Given the description of an element on the screen output the (x, y) to click on. 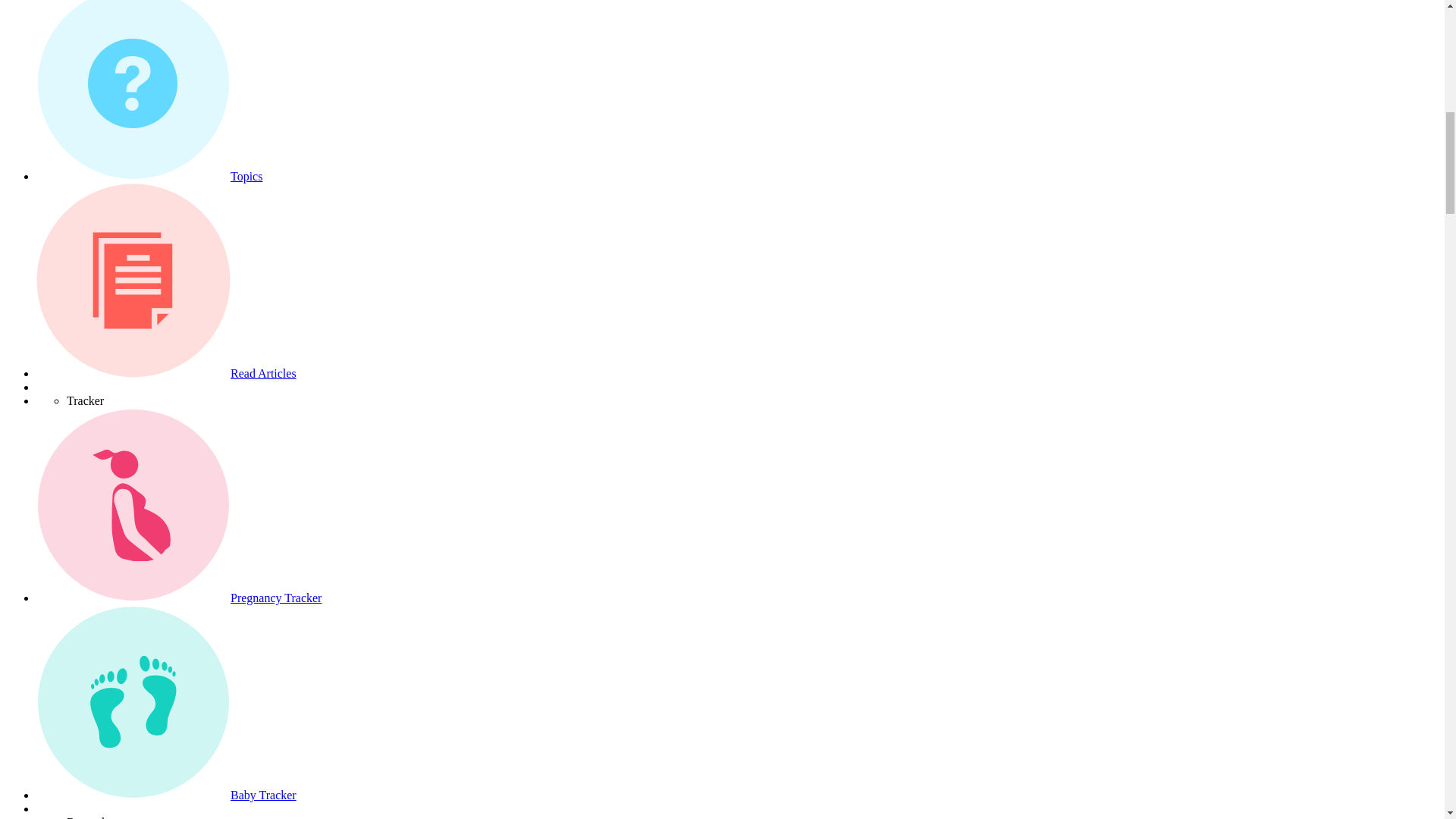
Pregnancy Tracker (275, 597)
Topics (246, 175)
Read Articles (263, 373)
Baby Tracker (263, 794)
